Given the description of an element on the screen output the (x, y) to click on. 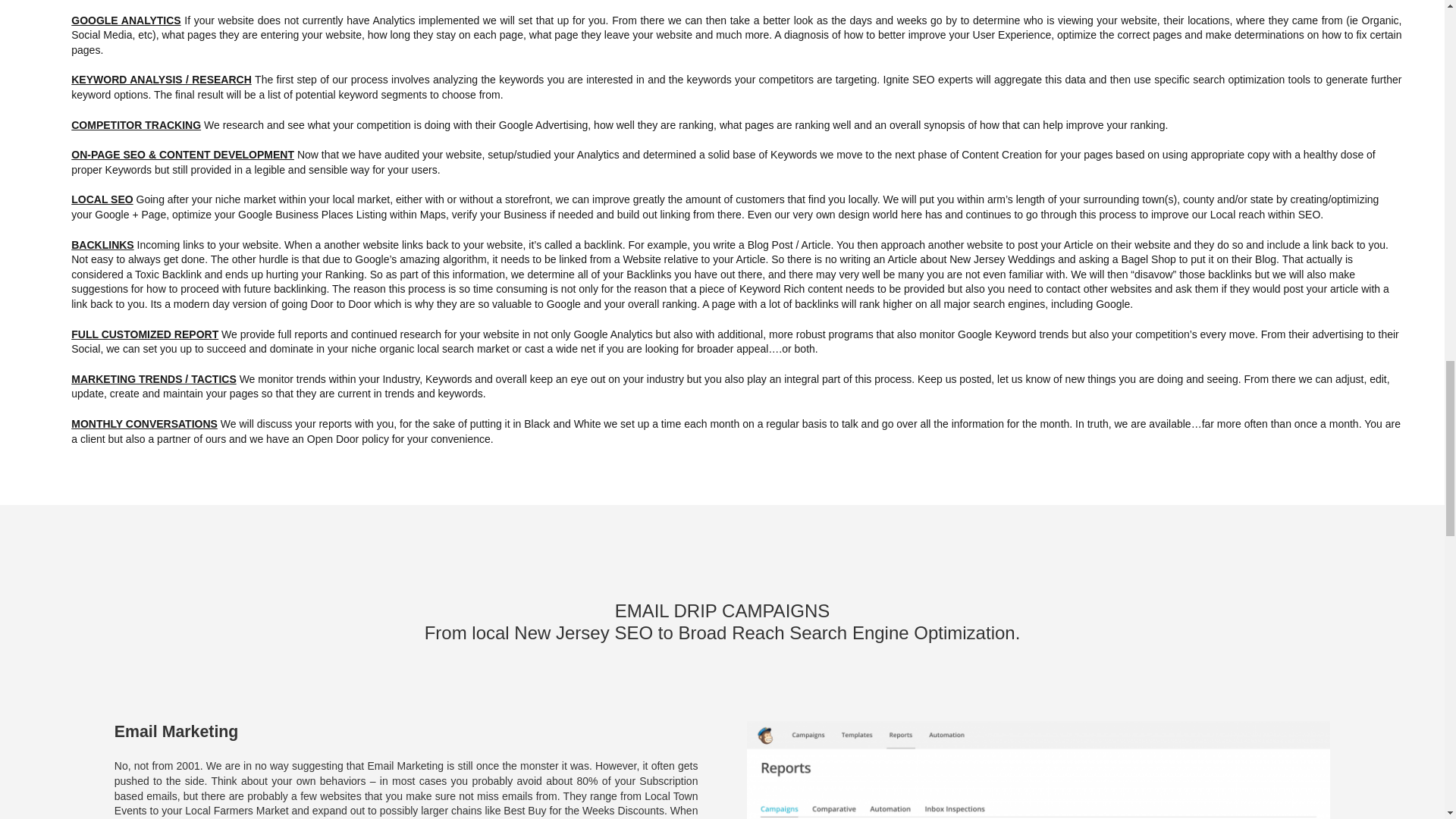
Email Newsletter Client Report (1038, 770)
